Given the description of an element on the screen output the (x, y) to click on. 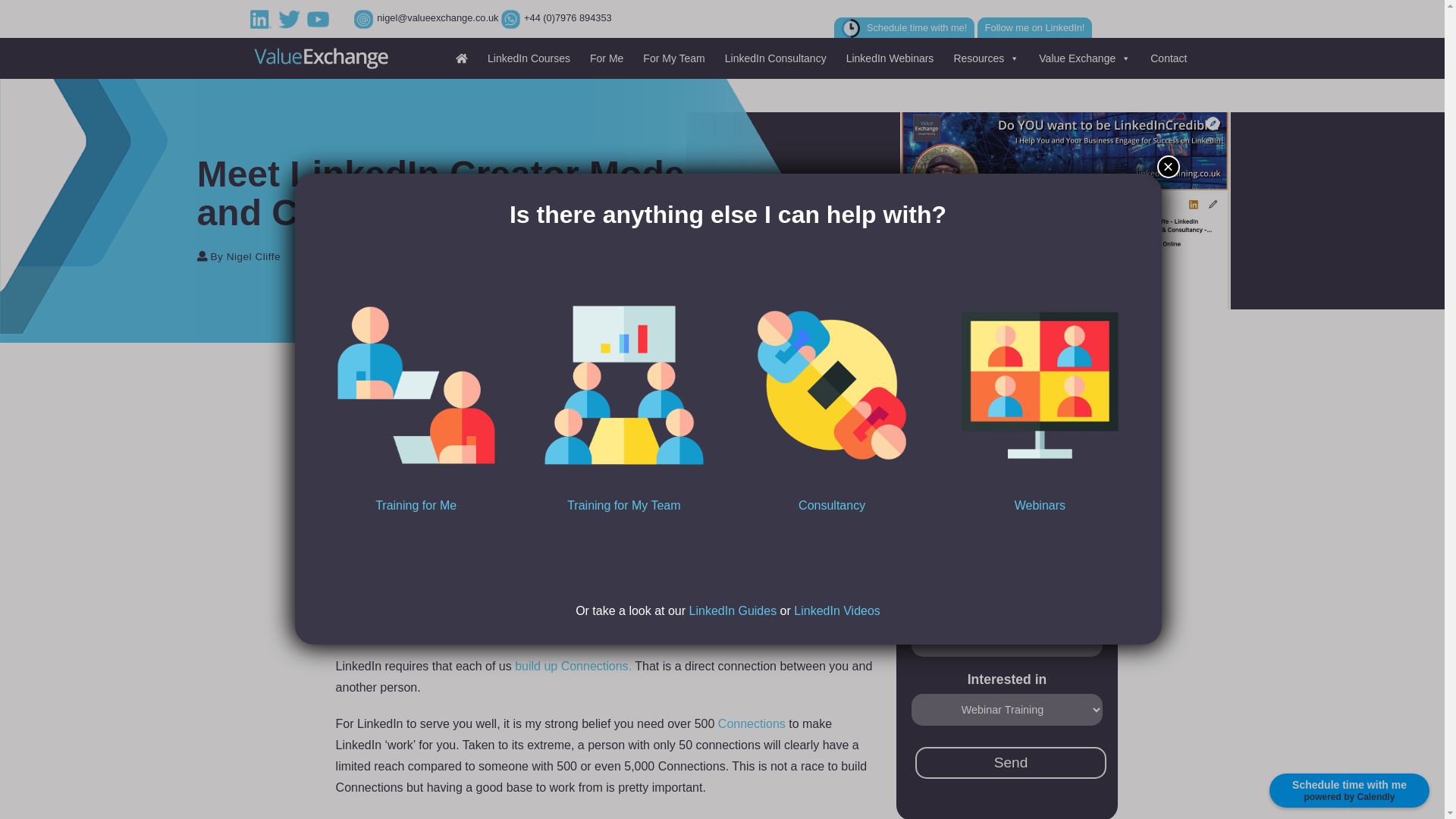
Twitter (291, 17)
LinkedIn Courses (527, 58)
LinkedIn Webinars (888, 58)
YouTube (320, 17)
LinkedIn (263, 17)
Resources (983, 58)
Send (1010, 762)
Follow me on LinkedIn! (1034, 27)
For My Team (670, 58)
Schedule time with me! (904, 27)
LinkedIn Consultancy (773, 58)
For Me (604, 58)
Value Exchange (1082, 58)
Contact (1165, 58)
